Given the description of an element on the screen output the (x, y) to click on. 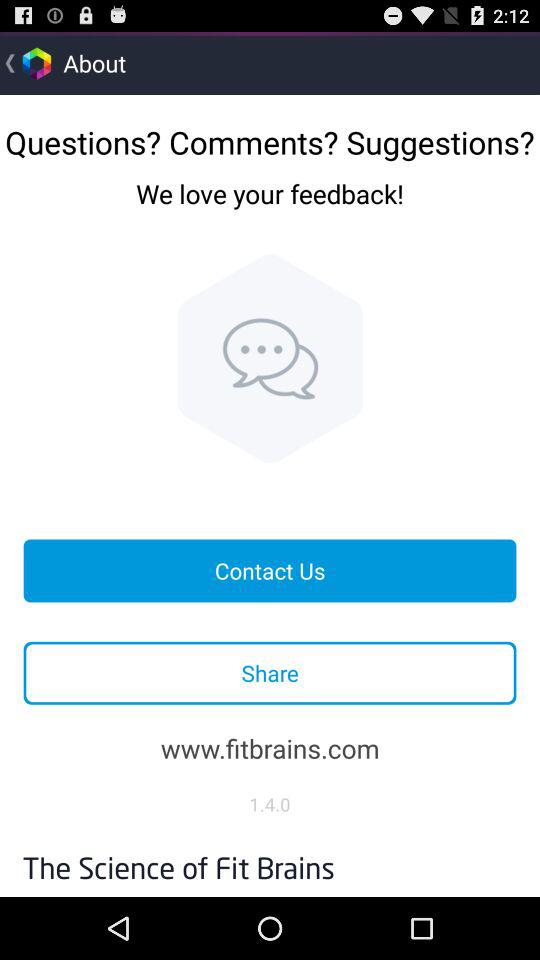
click the icon above the the science of (270, 803)
